Given the description of an element on the screen output the (x, y) to click on. 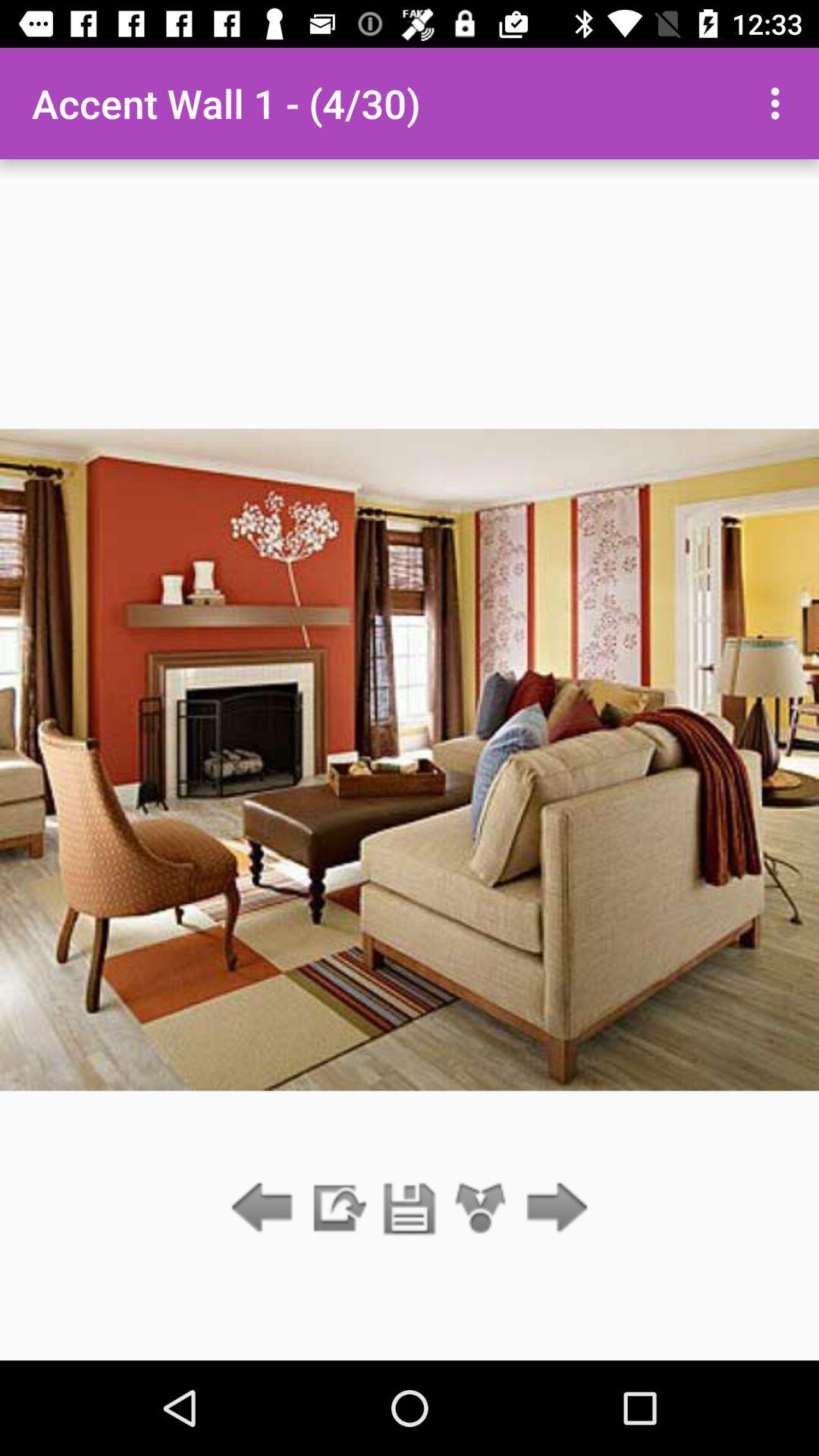
button to activate the next page (552, 1209)
